Given the description of an element on the screen output the (x, y) to click on. 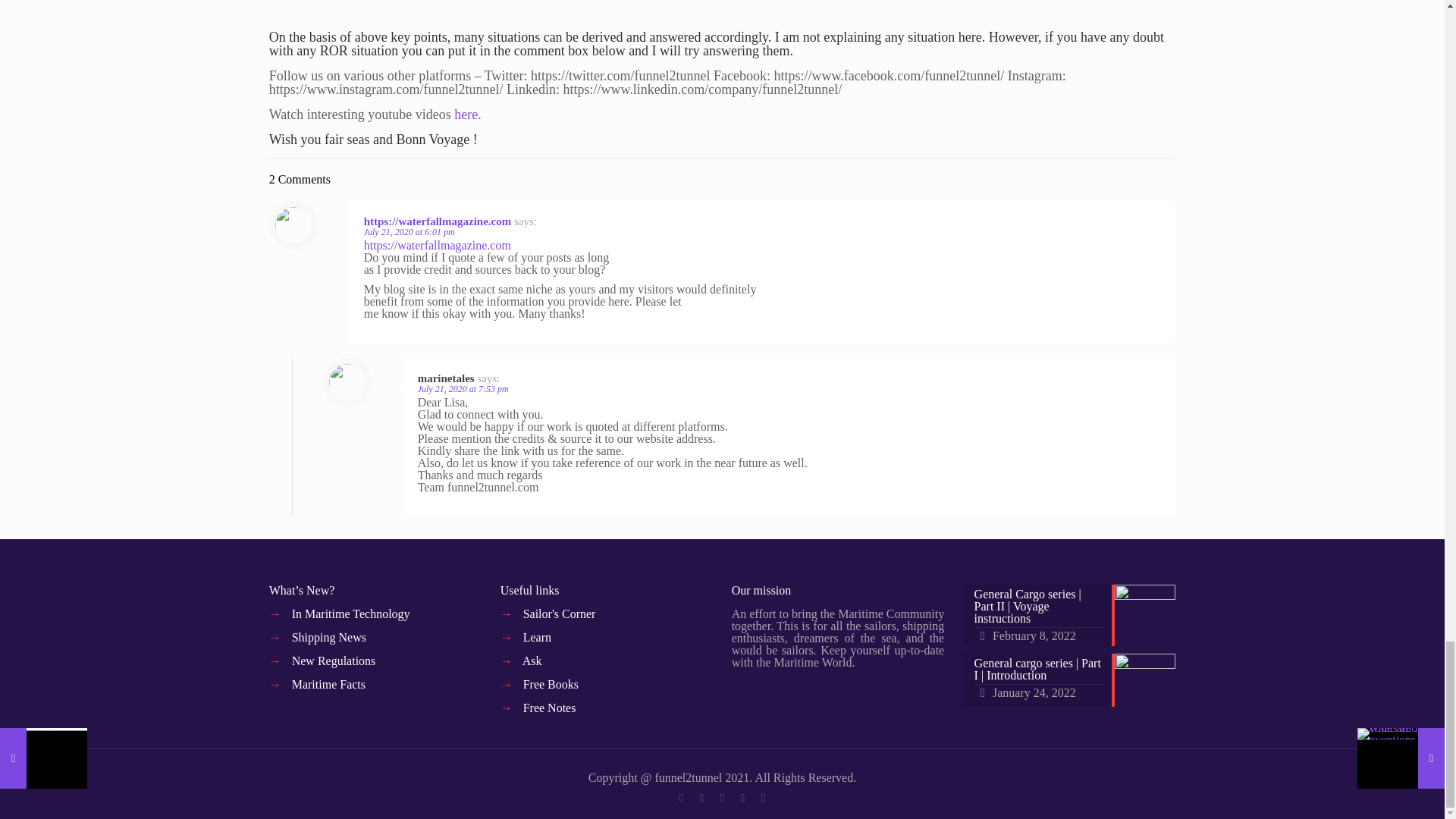
In Maritime Technology (351, 613)
Instagram (763, 797)
YouTube (722, 797)
Facebook (680, 797)
LinkedIn (743, 797)
Twitter (702, 797)
July 21, 2020 at 6:01 pm (409, 231)
here (465, 114)
Shipping News (329, 636)
July 21, 2020 at 7:53 pm (462, 388)
